Given the description of an element on the screen output the (x, y) to click on. 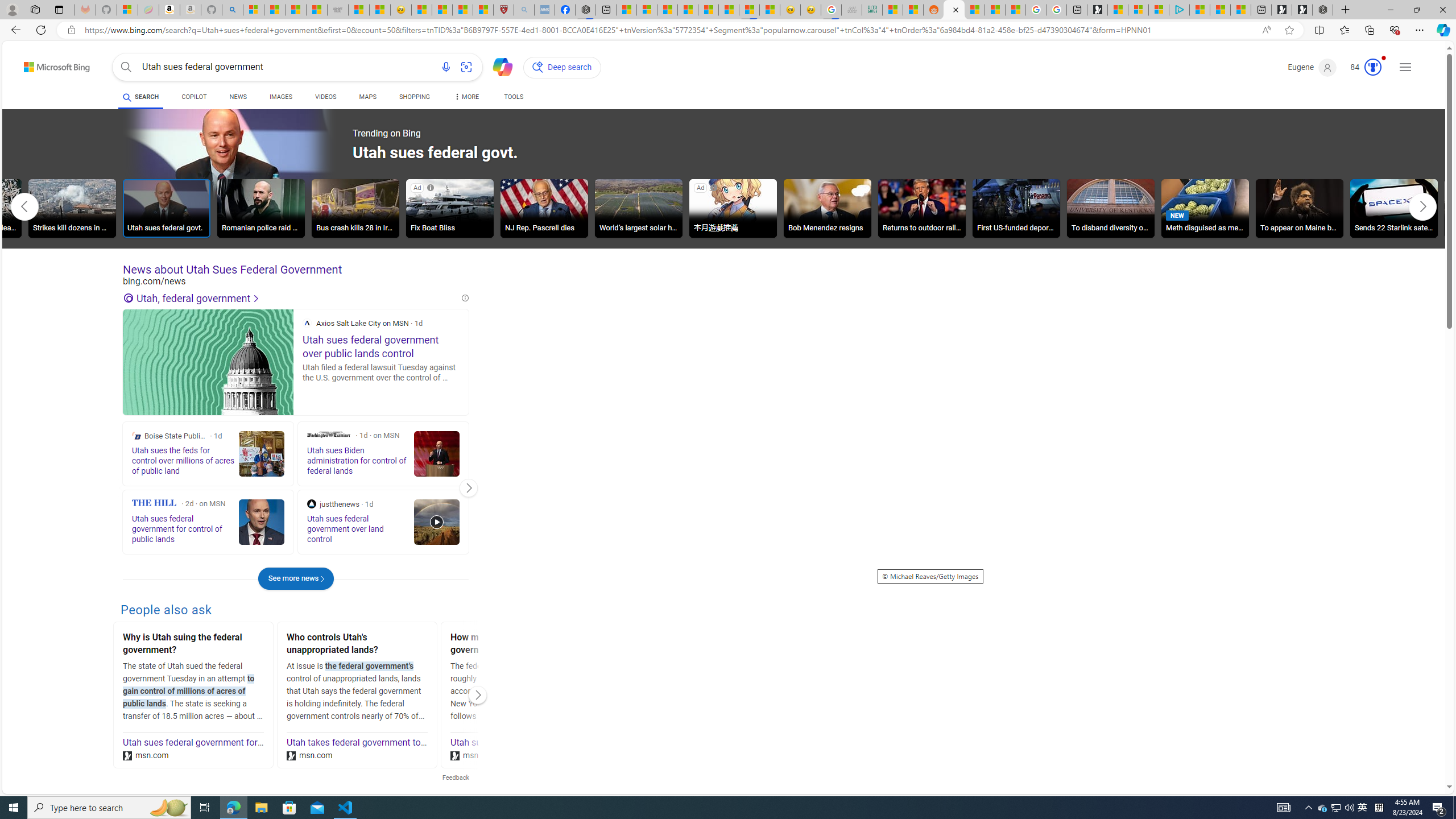
Settings and quick links (1404, 67)
Utah sues federal government for control of public lands (235, 742)
TOOLS (512, 98)
NJ Rep. Pascrell dies (544, 207)
COPILOT (193, 98)
bing.com/news (295, 281)
These 3 Stocks Pay You More Than 5% to Own Them (1240, 9)
AutomationID: mfa_root (1406, 752)
News about Utah Sues Federal Government (295, 269)
Eugene (1311, 67)
